Given the description of an element on the screen output the (x, y) to click on. 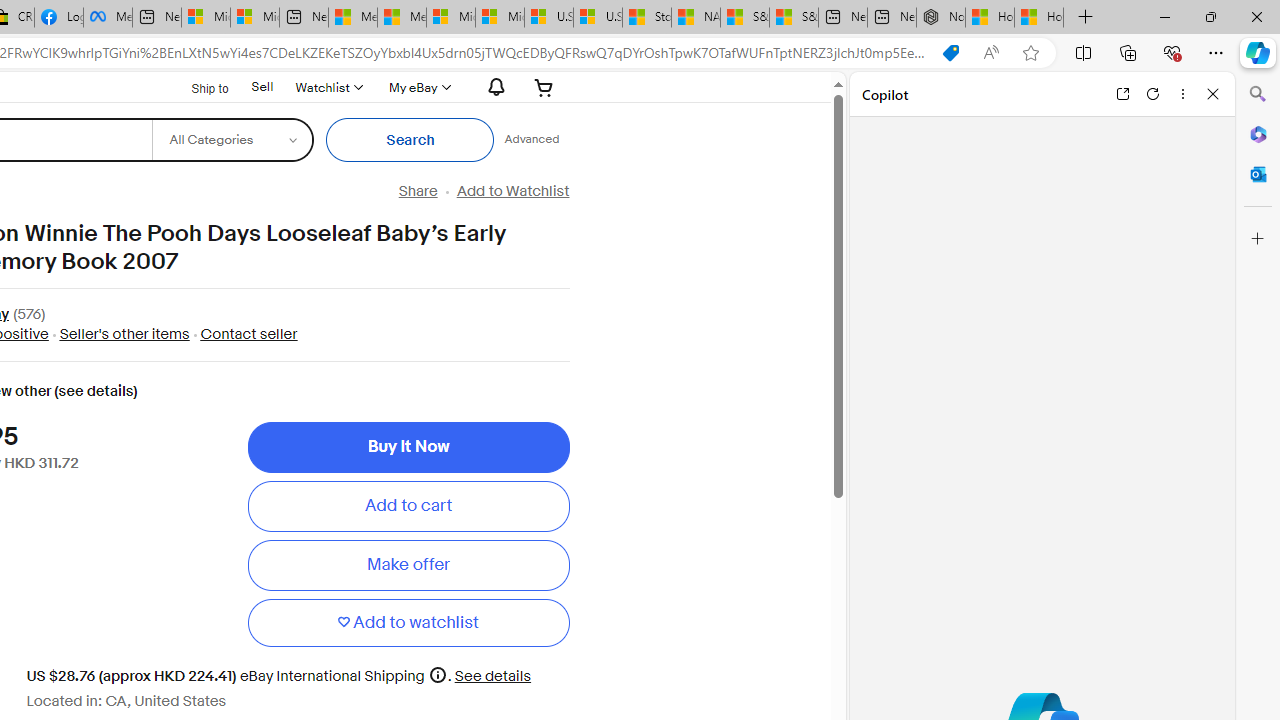
My eBay (418, 87)
Meta Store (107, 17)
Log into Facebook (58, 17)
Share (417, 191)
Sell (261, 87)
  Contact seller (243, 334)
See details for shipping (493, 676)
Add to watchlist (408, 622)
